Given the description of an element on the screen output the (x, y) to click on. 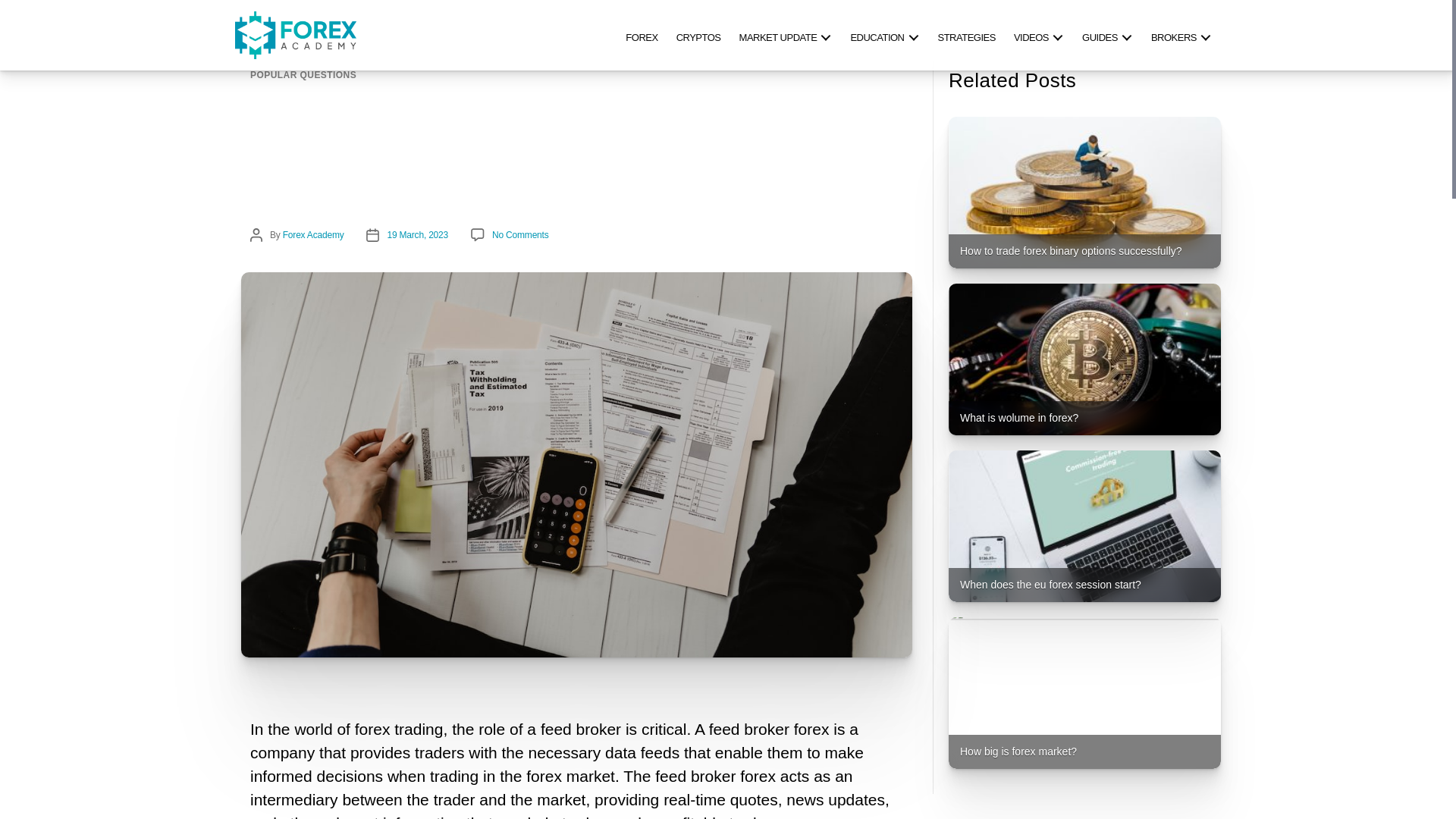
CRYPTOS (698, 35)
MARKET UPDATE (785, 35)
EDUCATION (884, 35)
How to trade forex binary options successfully? (1085, 192)
STRATEGIES (966, 35)
GUIDES (1107, 35)
What is wolume in forex? (1085, 358)
How big is forex market? (1085, 693)
When does the eu forex session start? (1085, 525)
BROKERS (1181, 35)
